Given the description of an element on the screen output the (x, y) to click on. 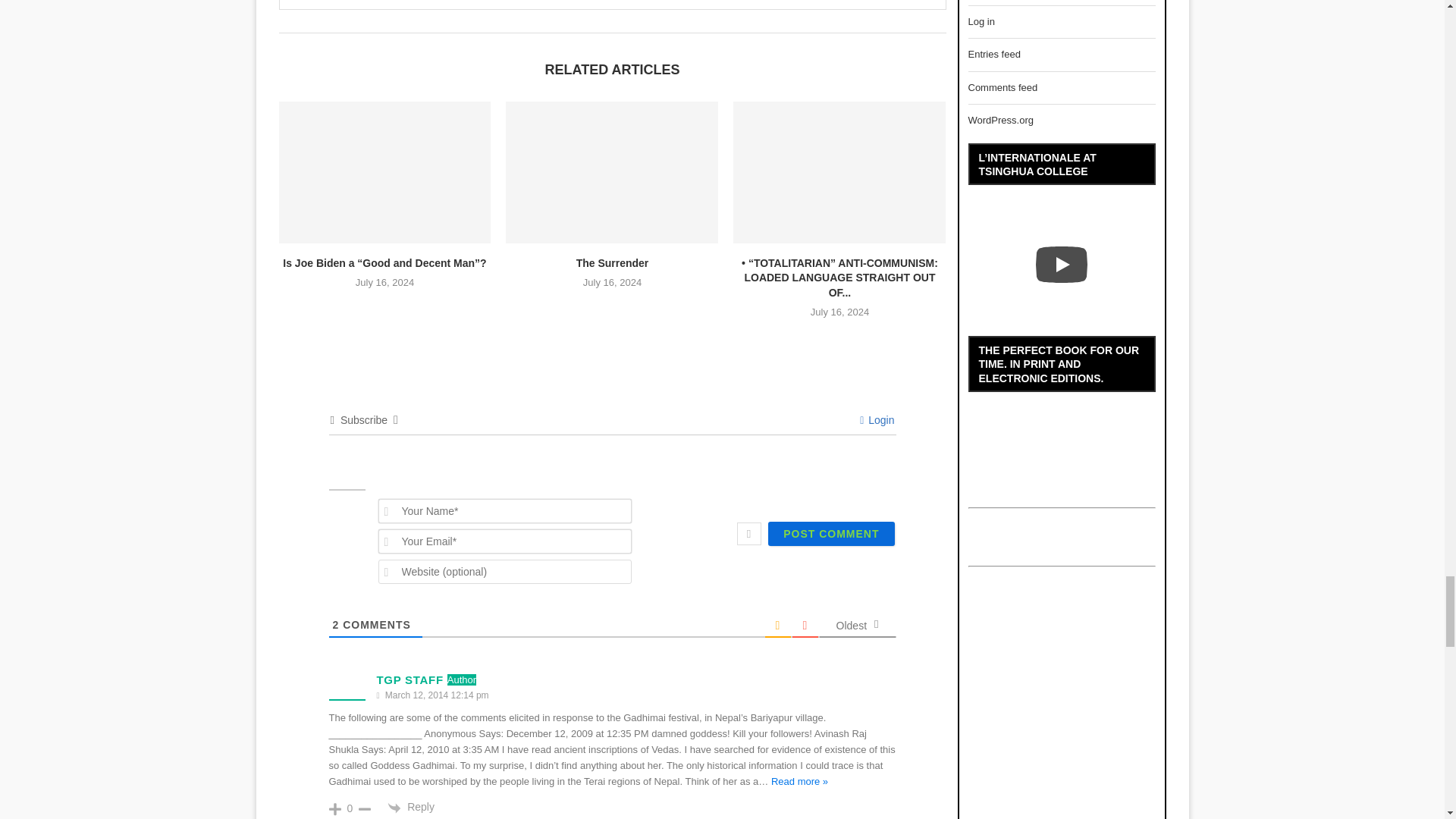
Post Comment (830, 533)
